Given the description of an element on the screen output the (x, y) to click on. 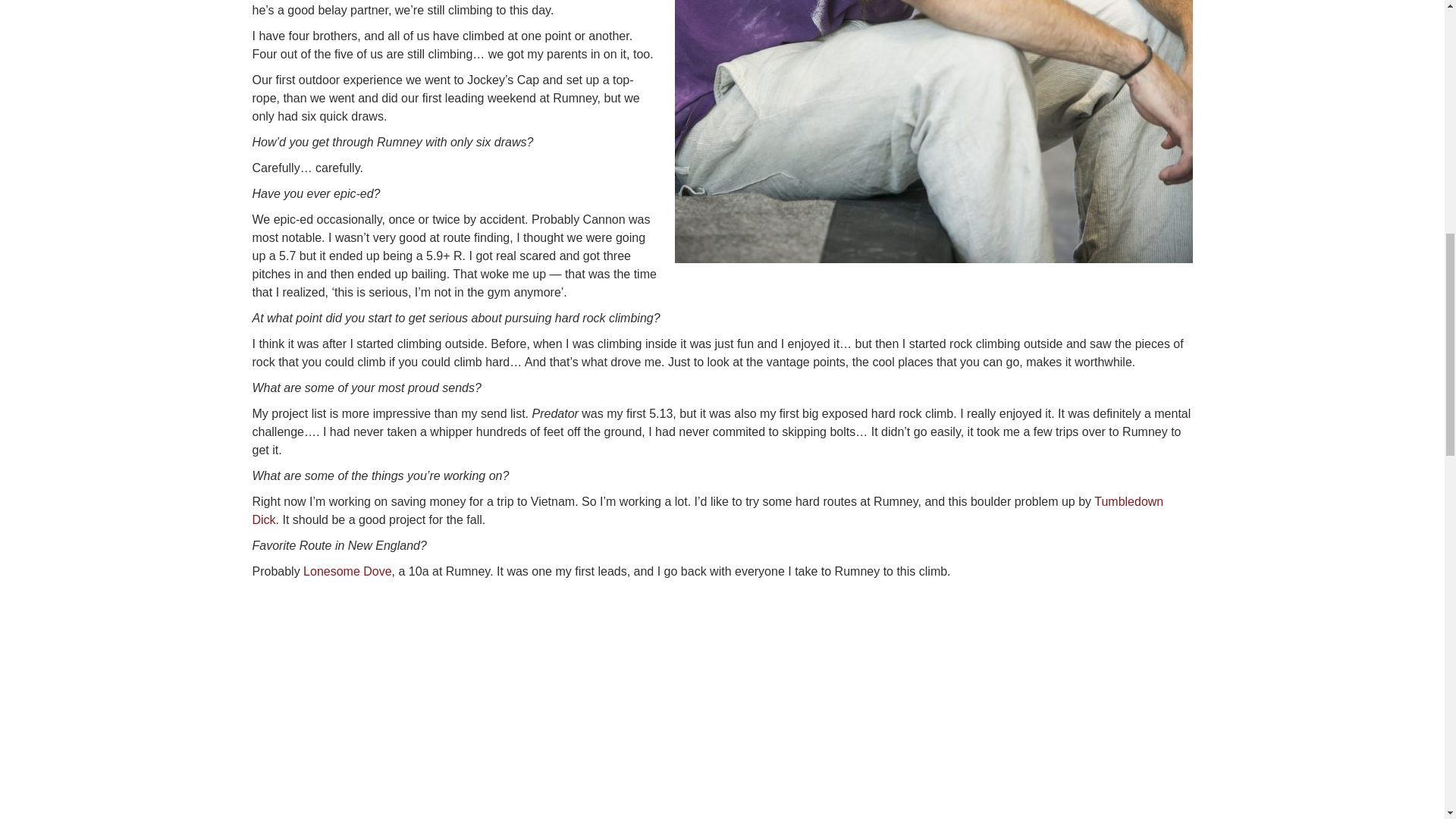
Tumbledown Dick (707, 510)
Lonesome Dove (346, 571)
